Given the description of an element on the screen output the (x, y) to click on. 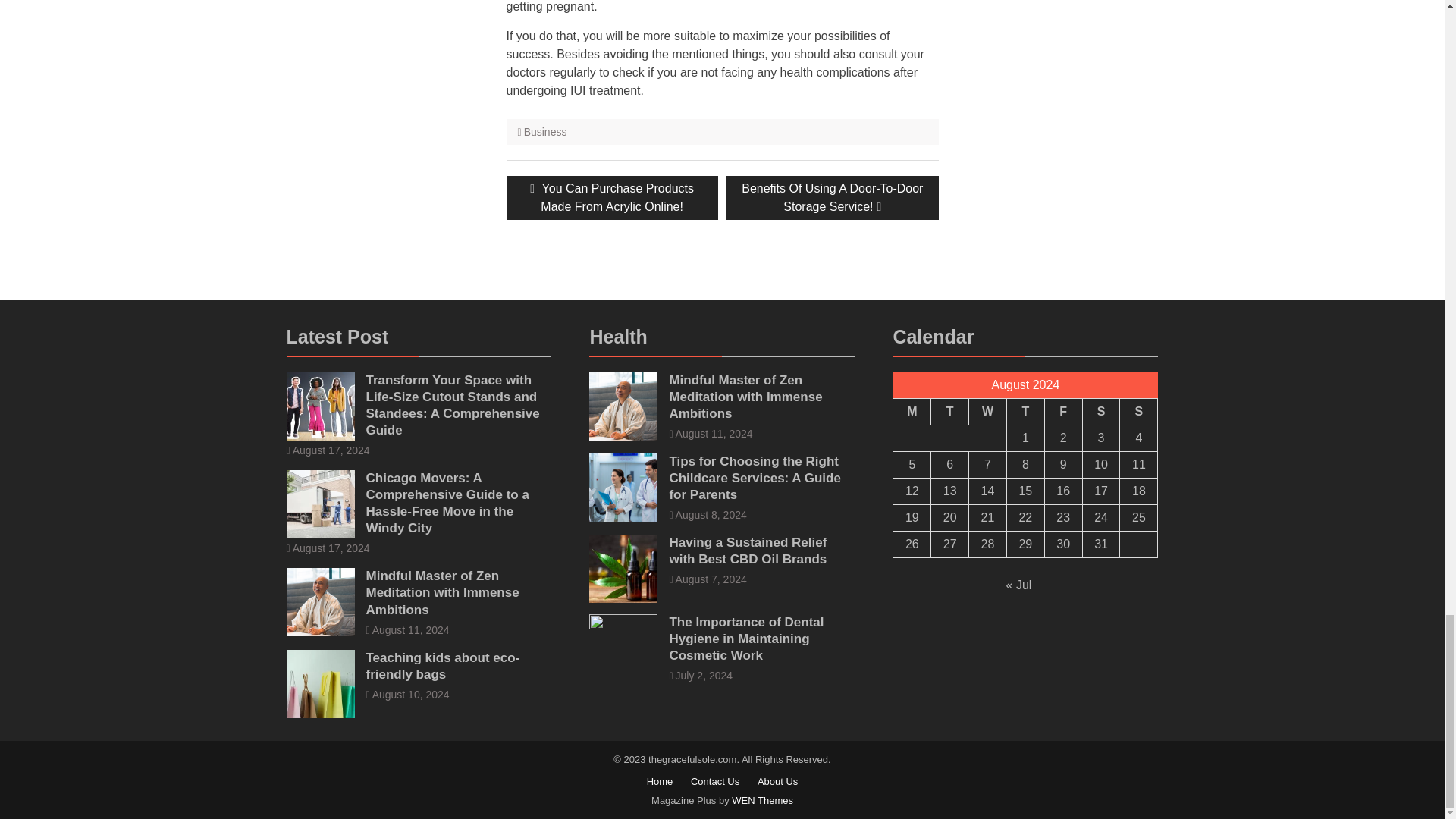
Thursday (1024, 411)
Wednesday (831, 198)
Friday (988, 411)
Tuesday (1062, 411)
Saturday (950, 411)
Business (1100, 411)
Sunday (545, 132)
Monday (1138, 411)
